Given the description of an element on the screen output the (x, y) to click on. 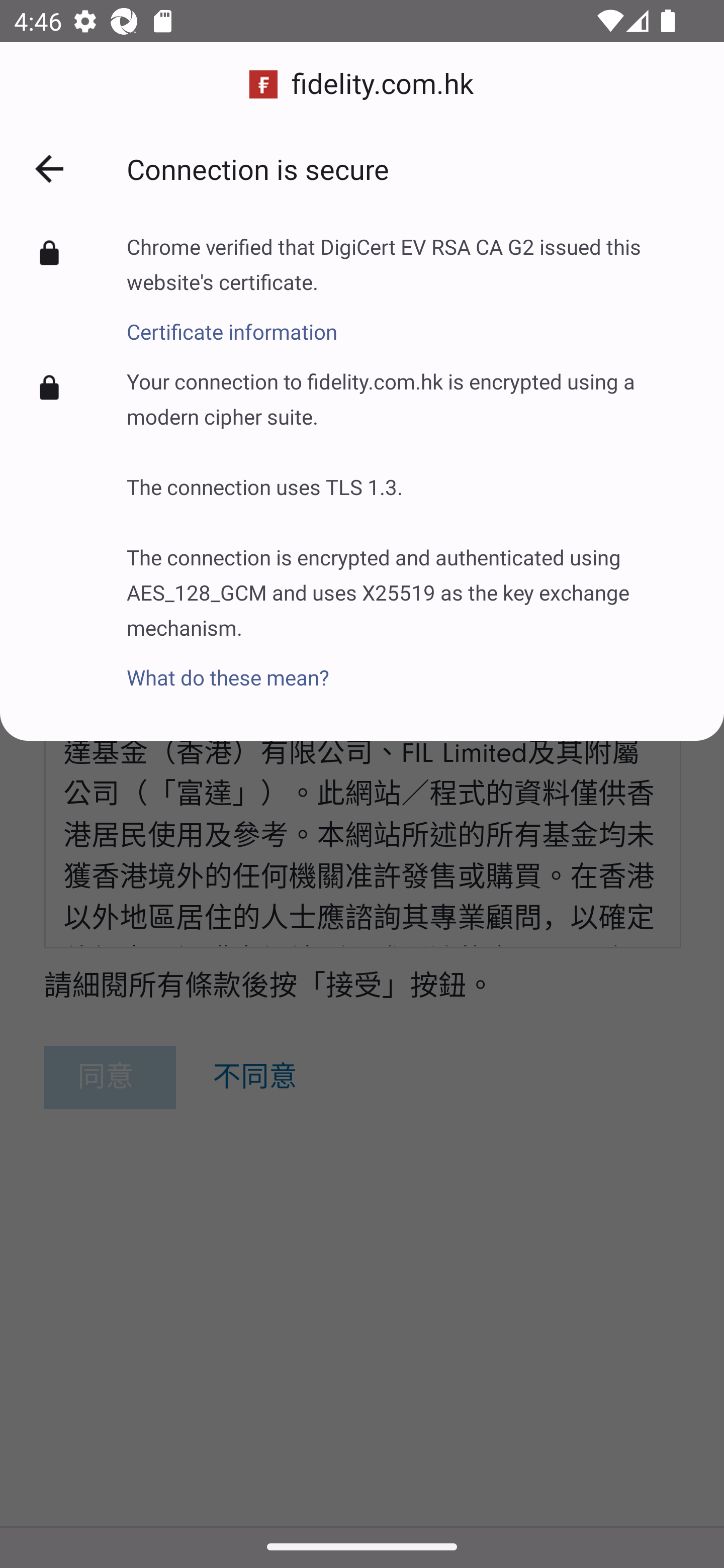
fidelity.com.hk (362, 84)
Back (49, 169)
Certificate information (410, 321)
What do these mean? (410, 666)
